Given the description of an element on the screen output the (x, y) to click on. 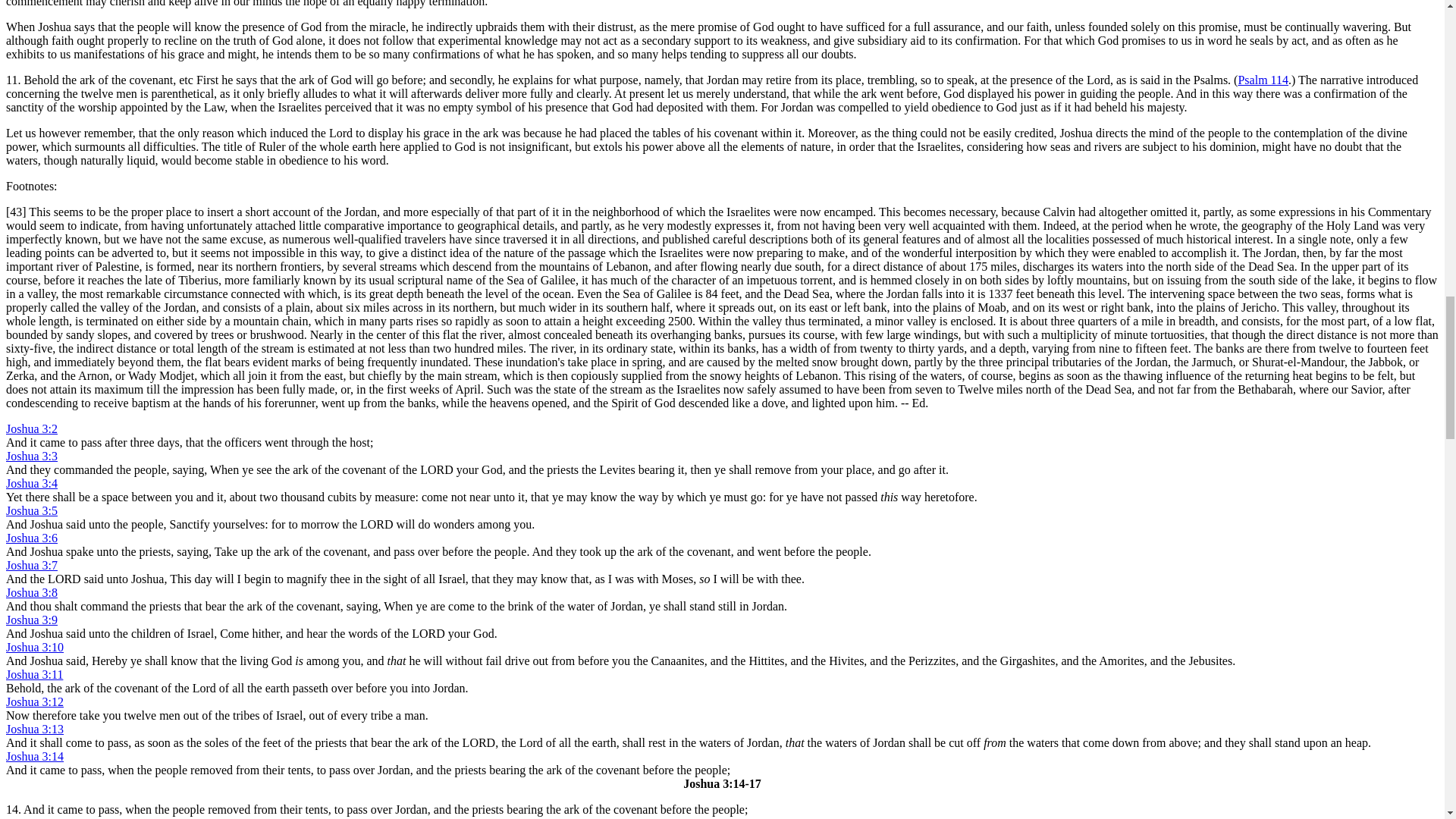
Psalm 114 (1262, 79)
Joshua 3:9 (31, 619)
Joshua 3:5 (31, 510)
Joshua 3:3 (31, 455)
Joshua 3:12 (34, 701)
Joshua 3:7 (31, 564)
Joshua 3:11 (33, 674)
Joshua 3:6 (31, 537)
Joshua 3:4 (31, 482)
Joshua 3:13 (34, 728)
Joshua 3:8 (31, 592)
Joshua 3:10 (34, 646)
Joshua 3:14 (34, 756)
Joshua 3:2 (31, 428)
